Given the description of an element on the screen output the (x, y) to click on. 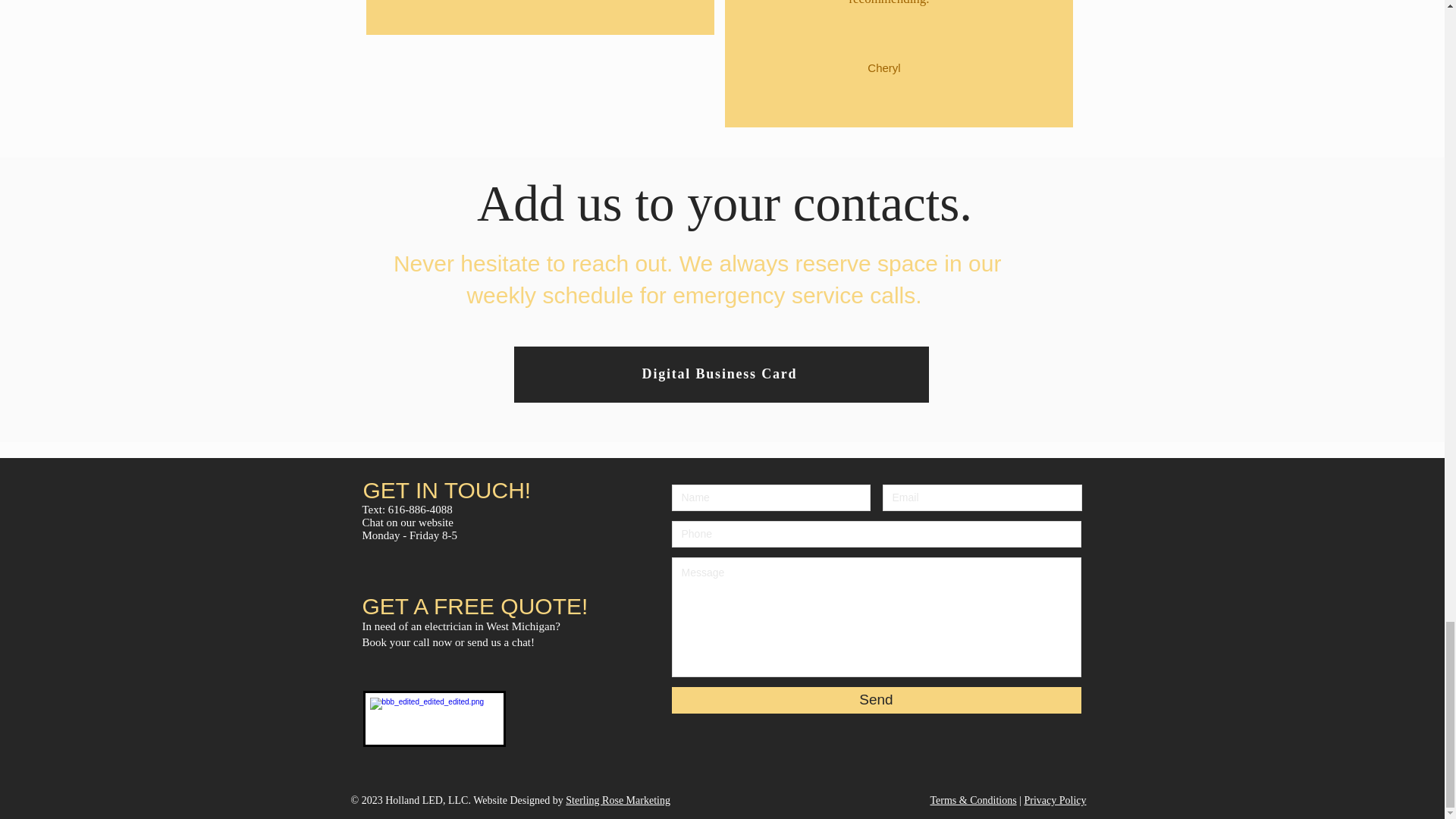
Sterling Rose Marketing (617, 799)
Send (876, 700)
Digital Business Card (720, 374)
Privacy Policy (1054, 799)
